Given the description of an element on the screen output the (x, y) to click on. 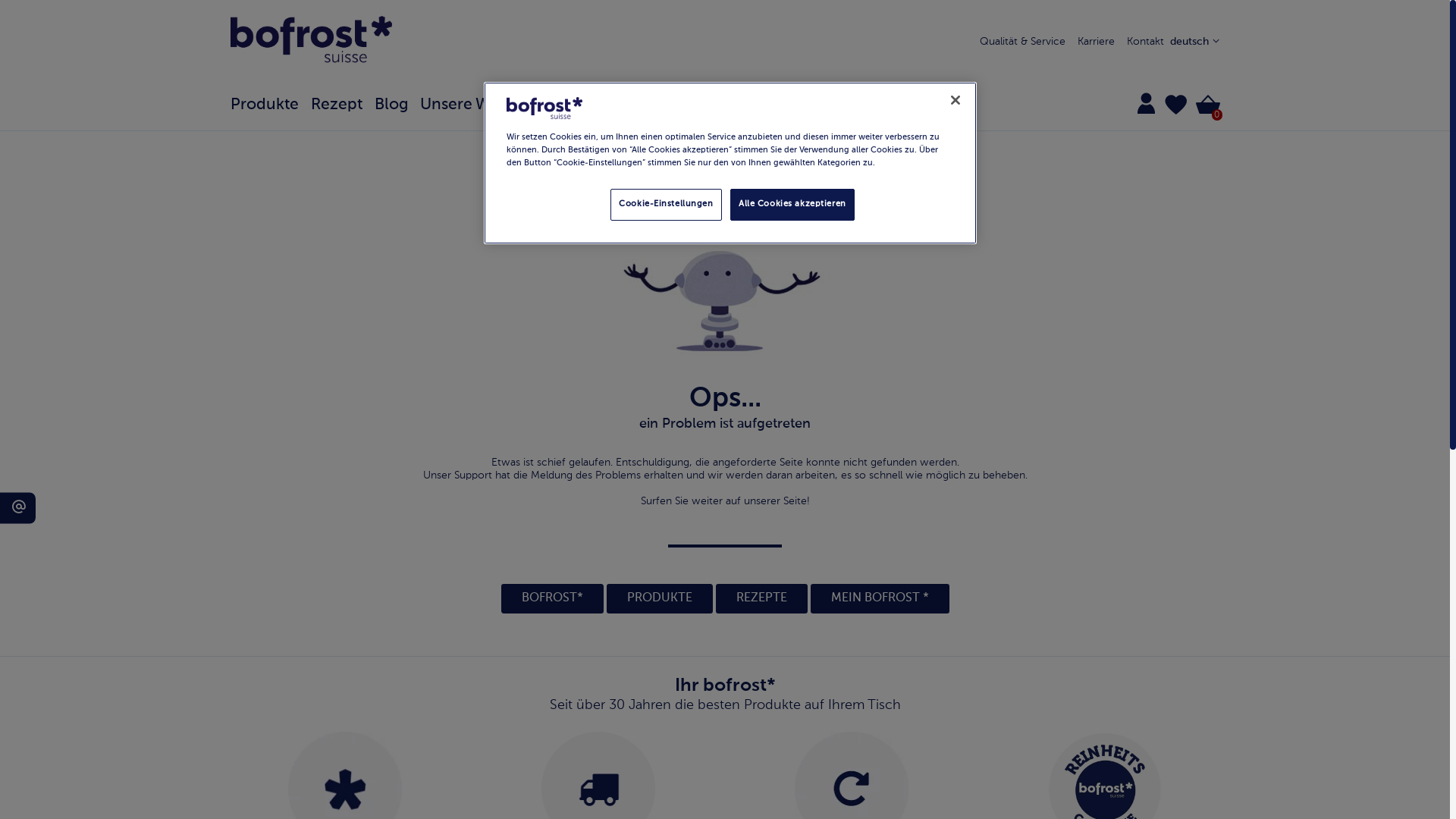
Blog Element type: text (397, 104)
Cookie-Einstellungen Element type: text (665, 204)
Rezept Element type: text (342, 104)
0 Element type: text (1205, 104)
MEIN BOFROST * Element type: text (878, 598)
Unsere Werte Element type: text (475, 104)
Firmenlogo Element type: hover (544, 108)
Karriere Element type: text (1094, 41)
Produkte Element type: text (270, 104)
PRODUKTE Element type: text (659, 598)
Alle Cookies akzeptieren Element type: text (792, 204)
Kontakt Element type: text (1145, 41)
REZEPTE Element type: text (761, 598)
BOFROST* Element type: text (551, 598)
bofrost* Element type: hover (311, 41)
Info & Kataloge Element type: text (592, 104)
